Given the description of an element on the screen output the (x, y) to click on. 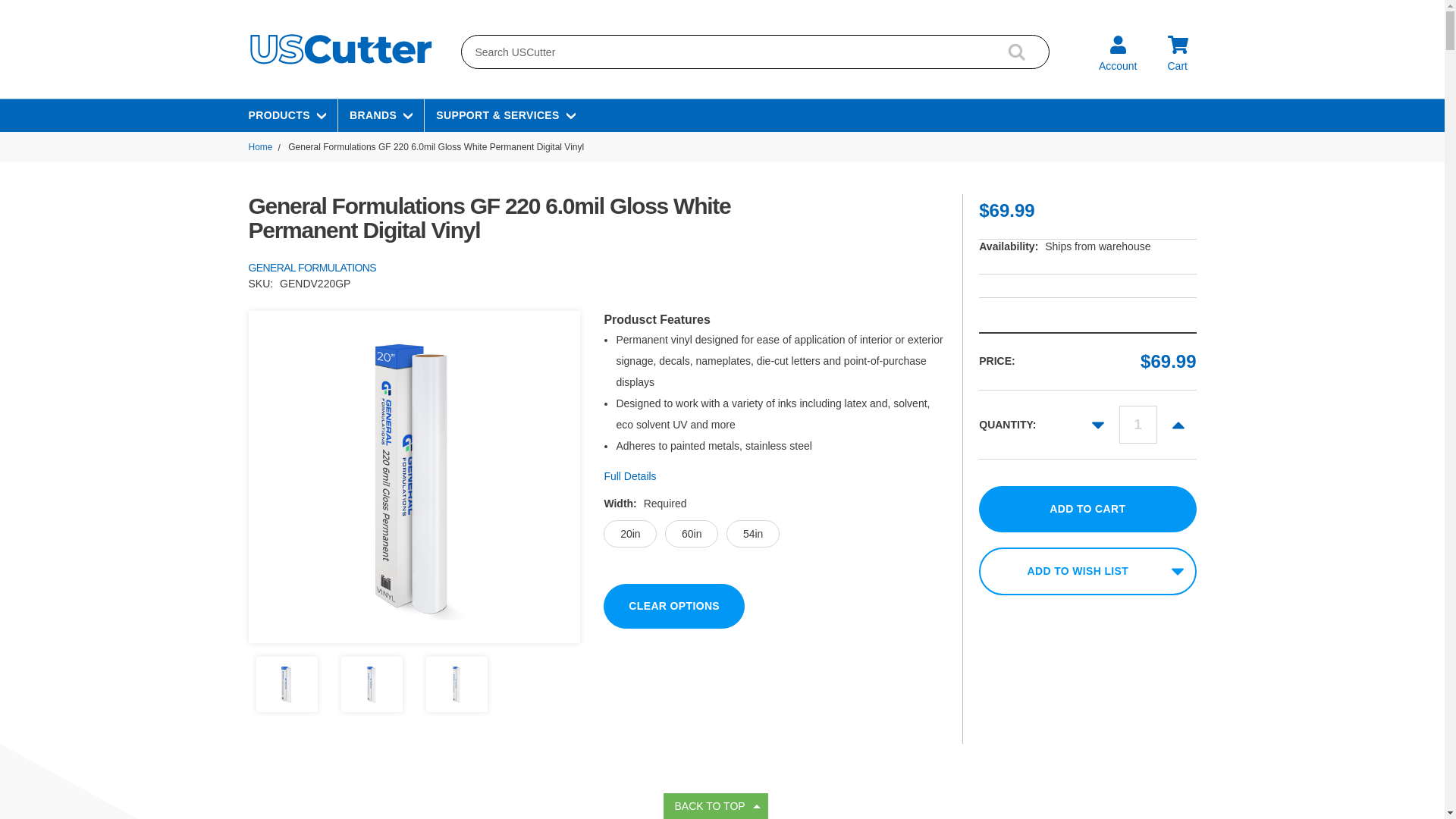
Full Details (773, 475)
PRODUCTS (286, 115)
1 (1138, 424)
Add to Cart (1086, 509)
BACK TO TOP (714, 806)
Clear Options (674, 605)
